Given the description of an element on the screen output the (x, y) to click on. 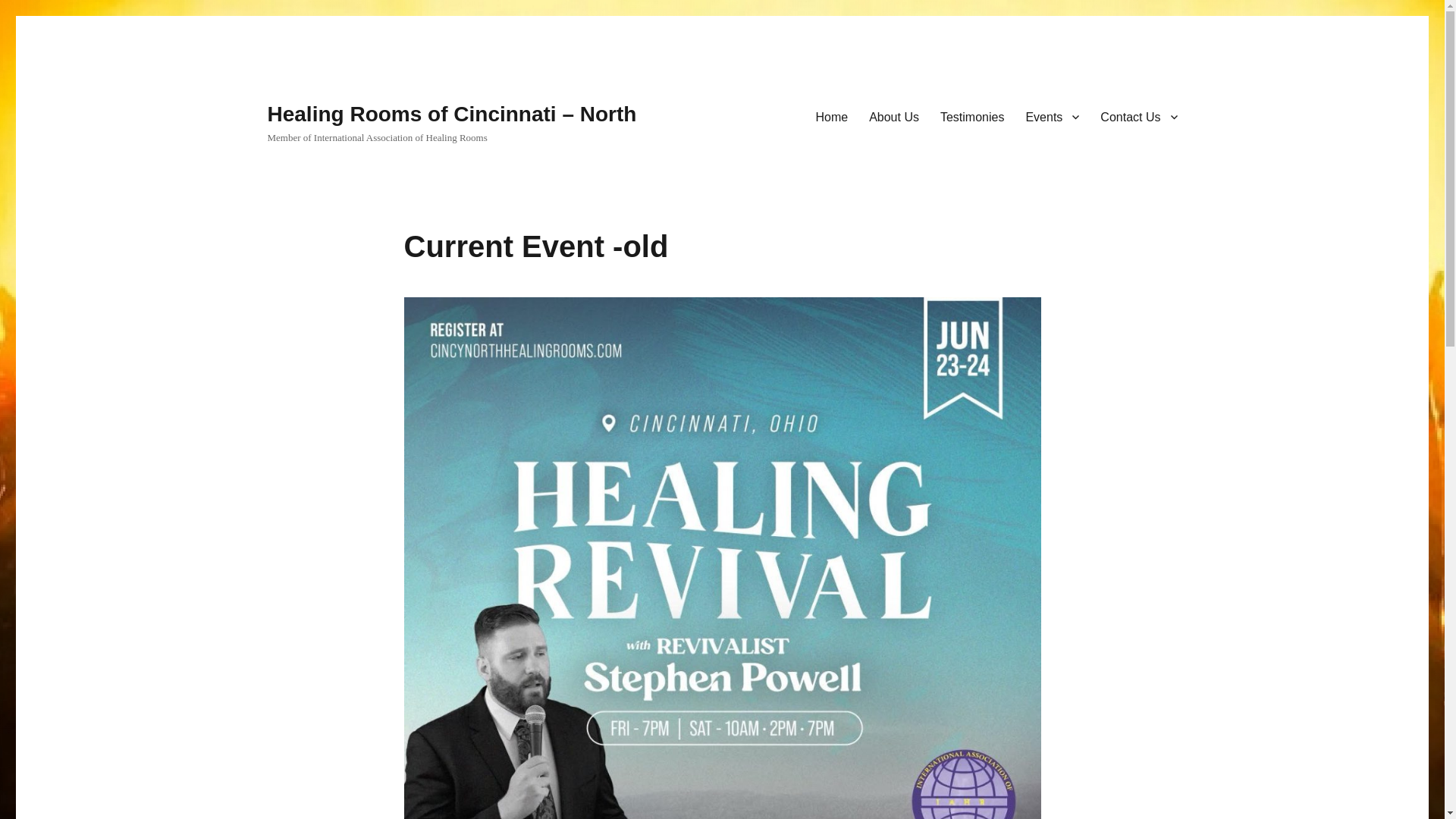
About Us (894, 116)
Home (832, 116)
Testimonies (972, 116)
Contact Us (1138, 116)
Events (1051, 116)
